Given the description of an element on the screen output the (x, y) to click on. 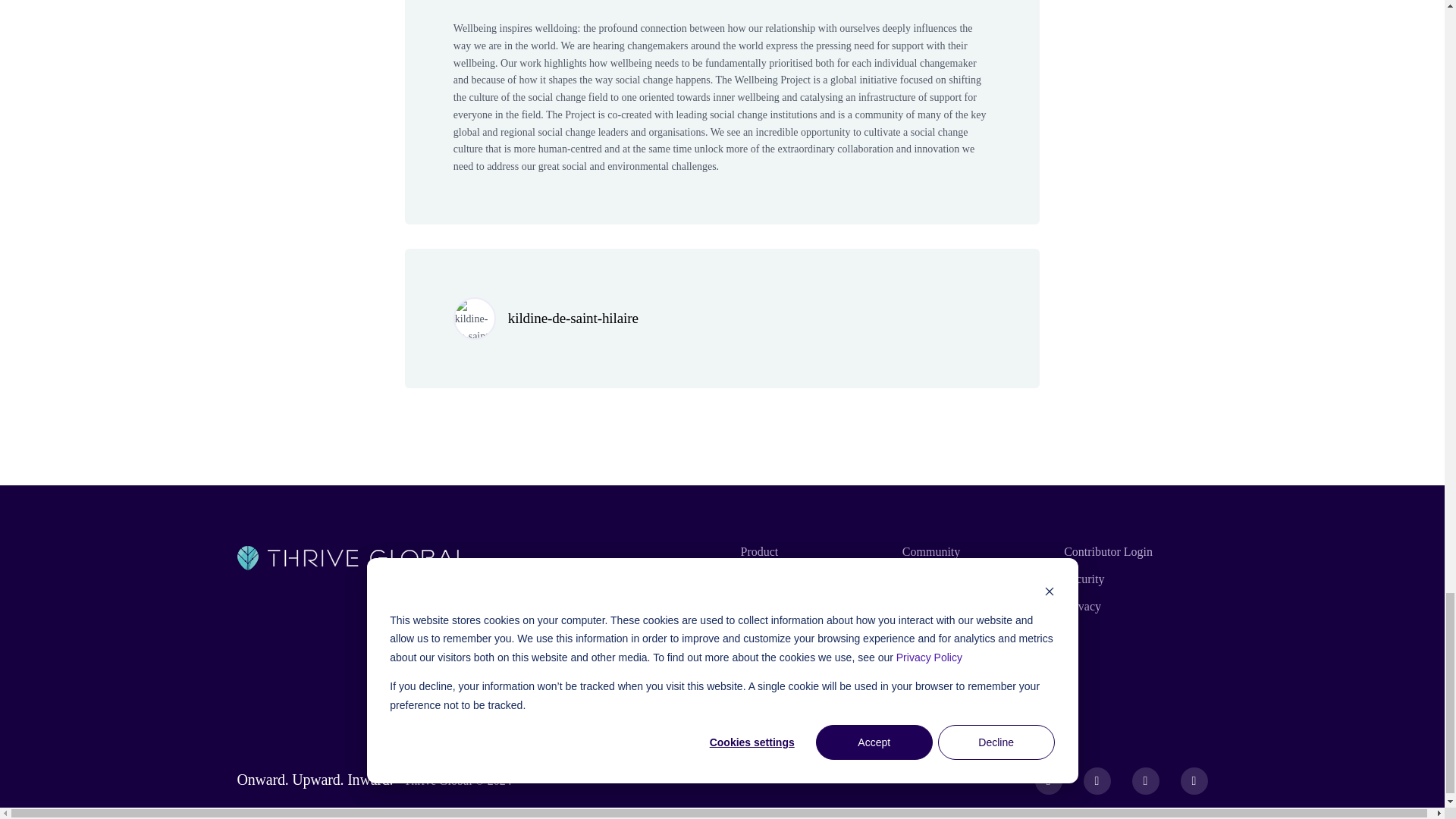
kildine-de-saint-hilaire (573, 317)
